Given the description of an element on the screen output the (x, y) to click on. 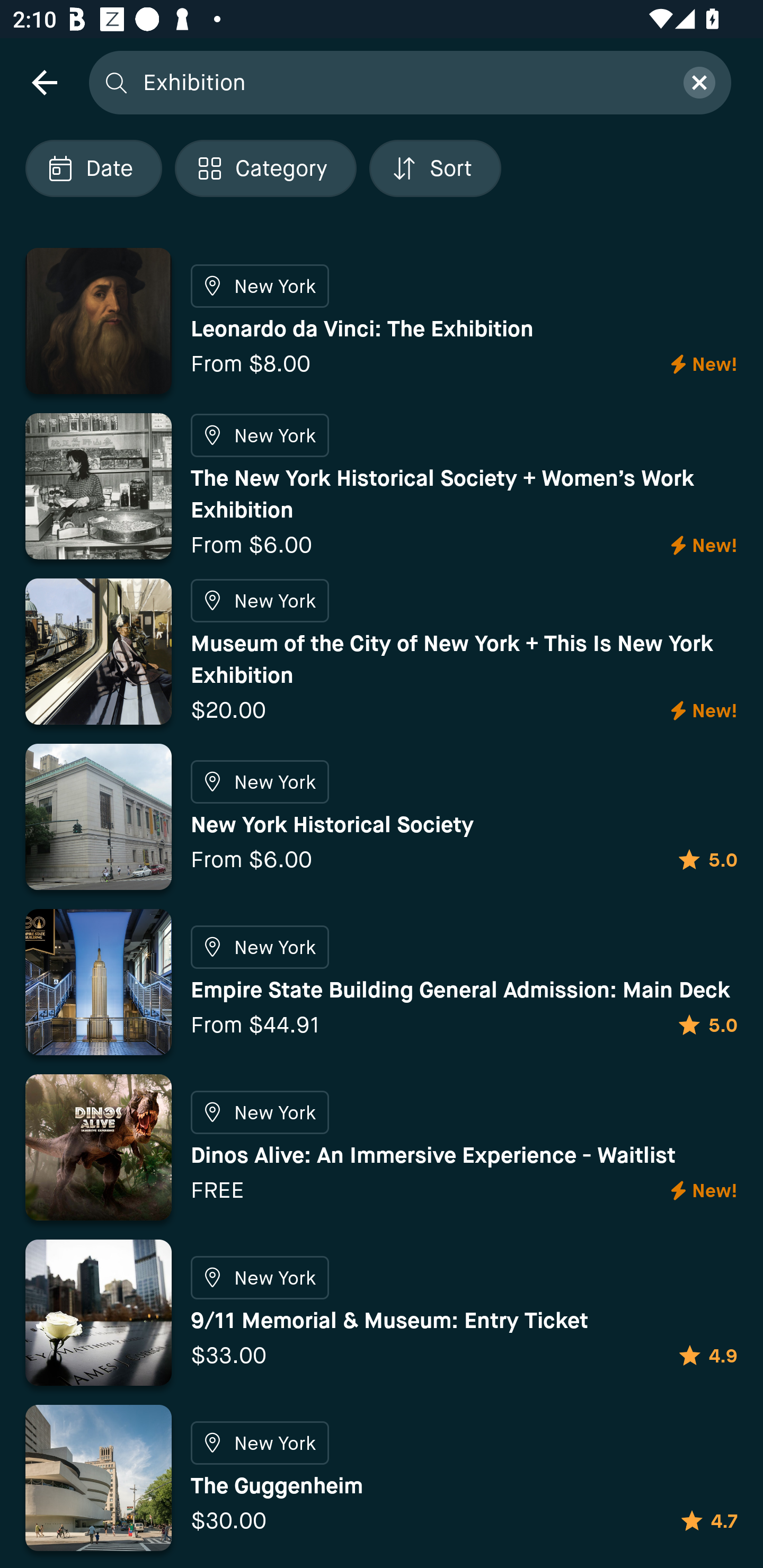
navigation icon (44, 81)
Exhibition (402, 81)
Localized description Date (93, 168)
Localized description Category (265, 168)
Localized description Sort (435, 168)
